Given the description of an element on the screen output the (x, y) to click on. 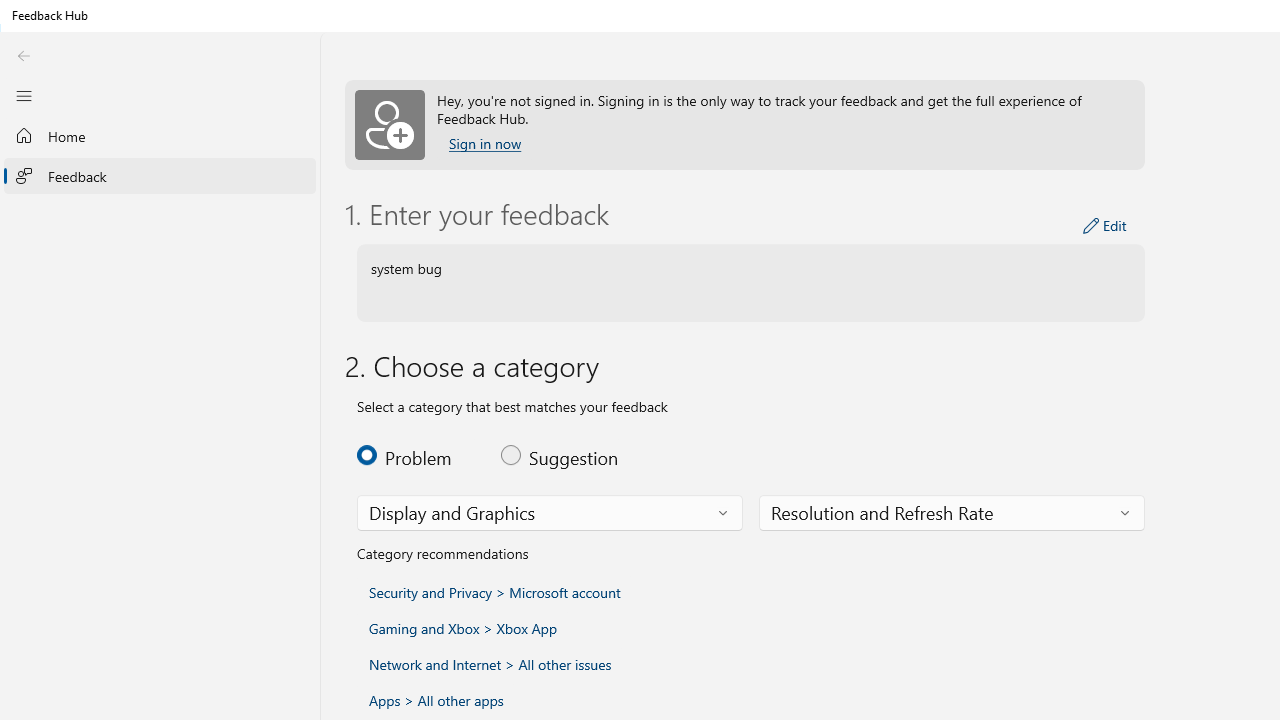
Feedback category (550, 512)
Home (159, 136)
Edit your feedback details (1105, 225)
Back (23, 56)
Select this category and subcategory: Apps > All other apps (436, 699)
Feedback subcategory (952, 512)
Resolution and Refresh Rate (882, 511)
Feedback (159, 175)
Display and Graphics (452, 511)
Close Navigation (23, 95)
Feedback type, Suggestion (560, 454)
Sign in now (484, 143)
